Given the description of an element on the screen output the (x, y) to click on. 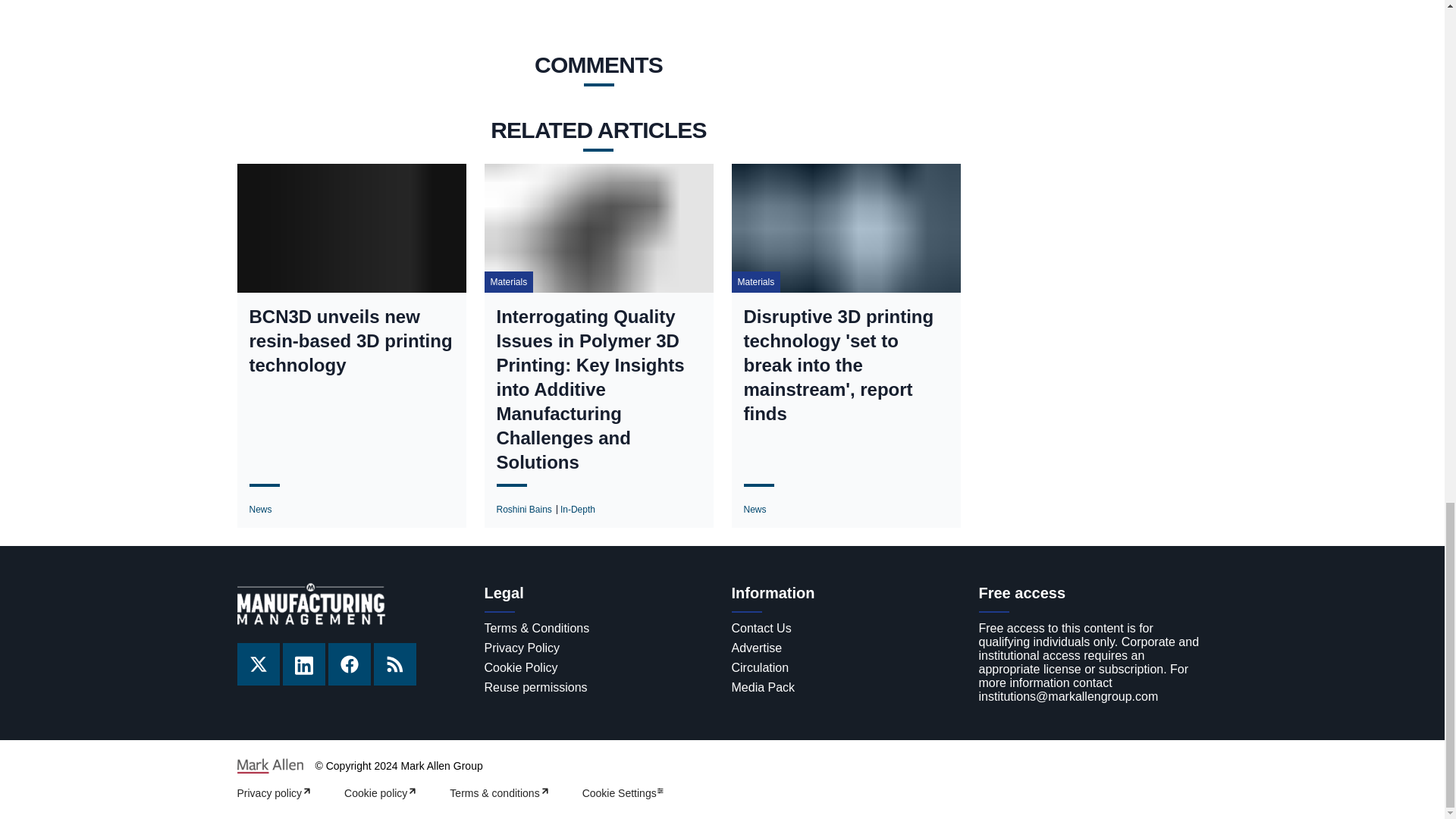
3DPrinting (455, 1)
Roshini Bains (523, 509)
News (259, 509)
News (753, 509)
BCN3D unveils new resin-based 3D printing technology (350, 340)
In-Depth (577, 509)
